Given the description of an element on the screen output the (x, y) to click on. 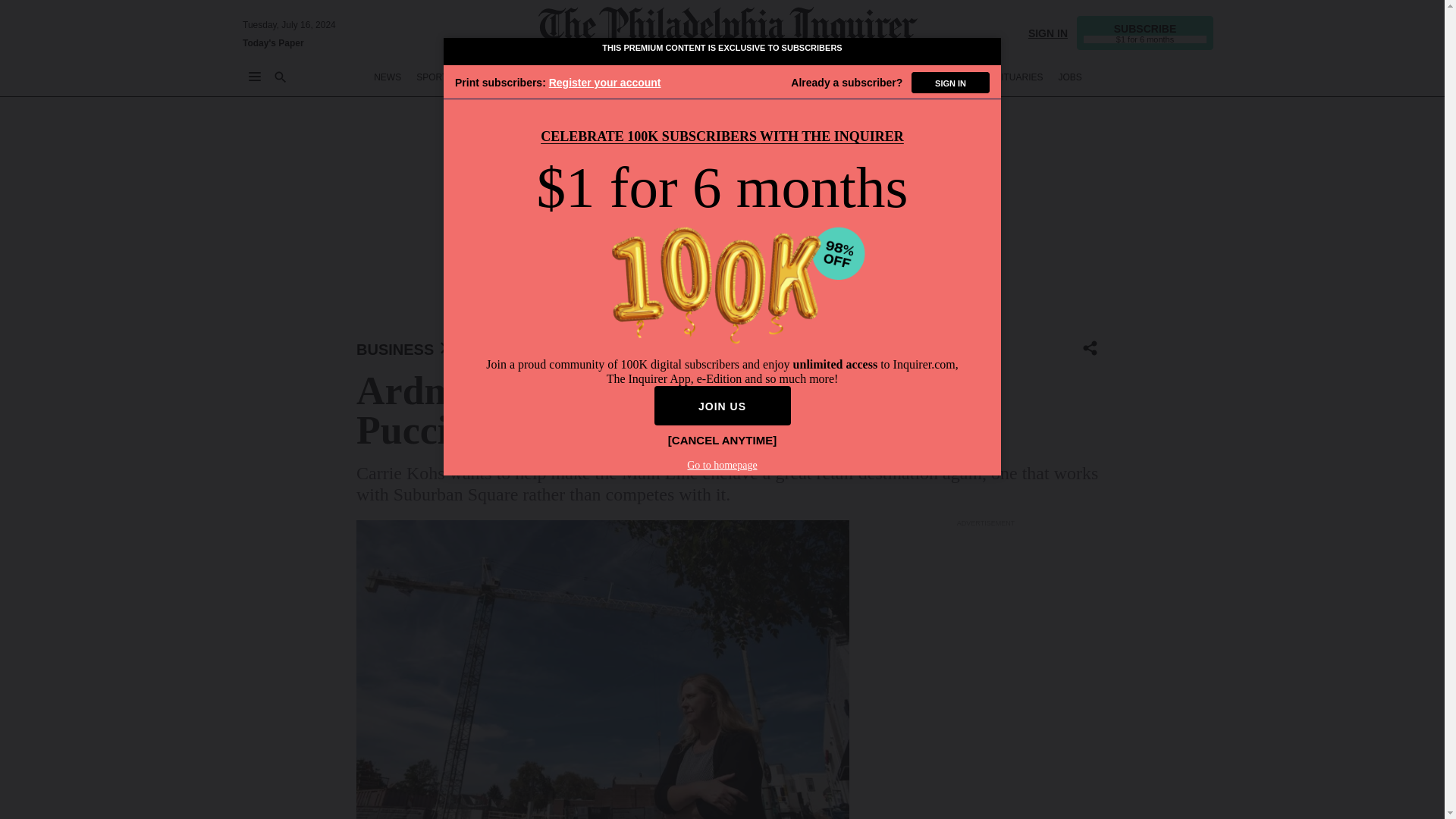
SIGN IN (1047, 32)
POLITICS (659, 77)
HEALTH (878, 77)
BETTING (488, 77)
REAL ESTATE (942, 77)
OBITUARIES (1015, 77)
SUBSCRIBE (1144, 32)
FOOD (834, 77)
Today's Paper (273, 42)
NEWS (387, 77)
BUSINESS (394, 348)
JOBS (1069, 77)
LIFE (795, 77)
Share Icon (1090, 348)
